Given the description of an element on the screen output the (x, y) to click on. 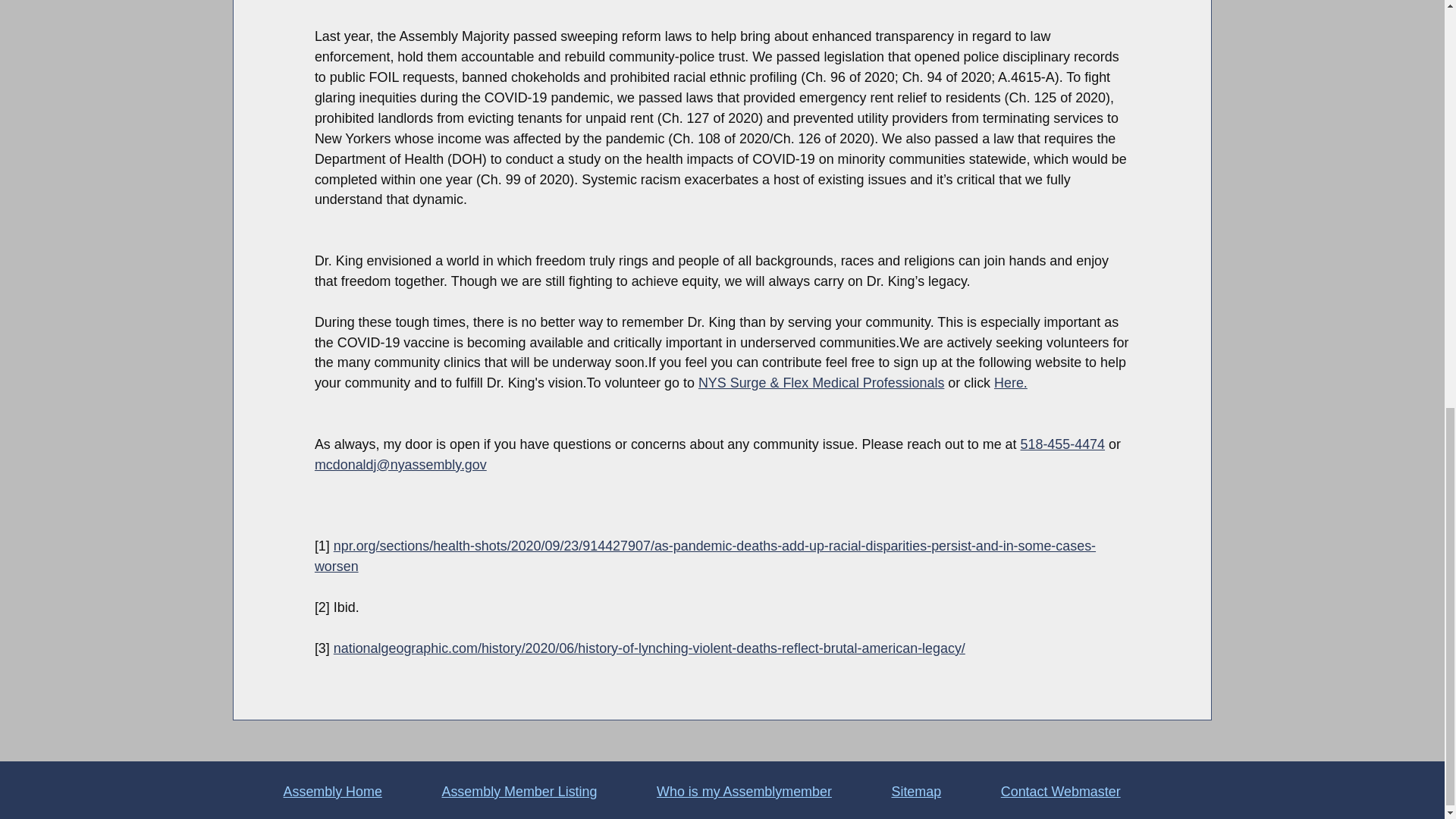
Here. (1010, 382)
518-455-4474 (1062, 444)
